Given the description of an element on the screen output the (x, y) to click on. 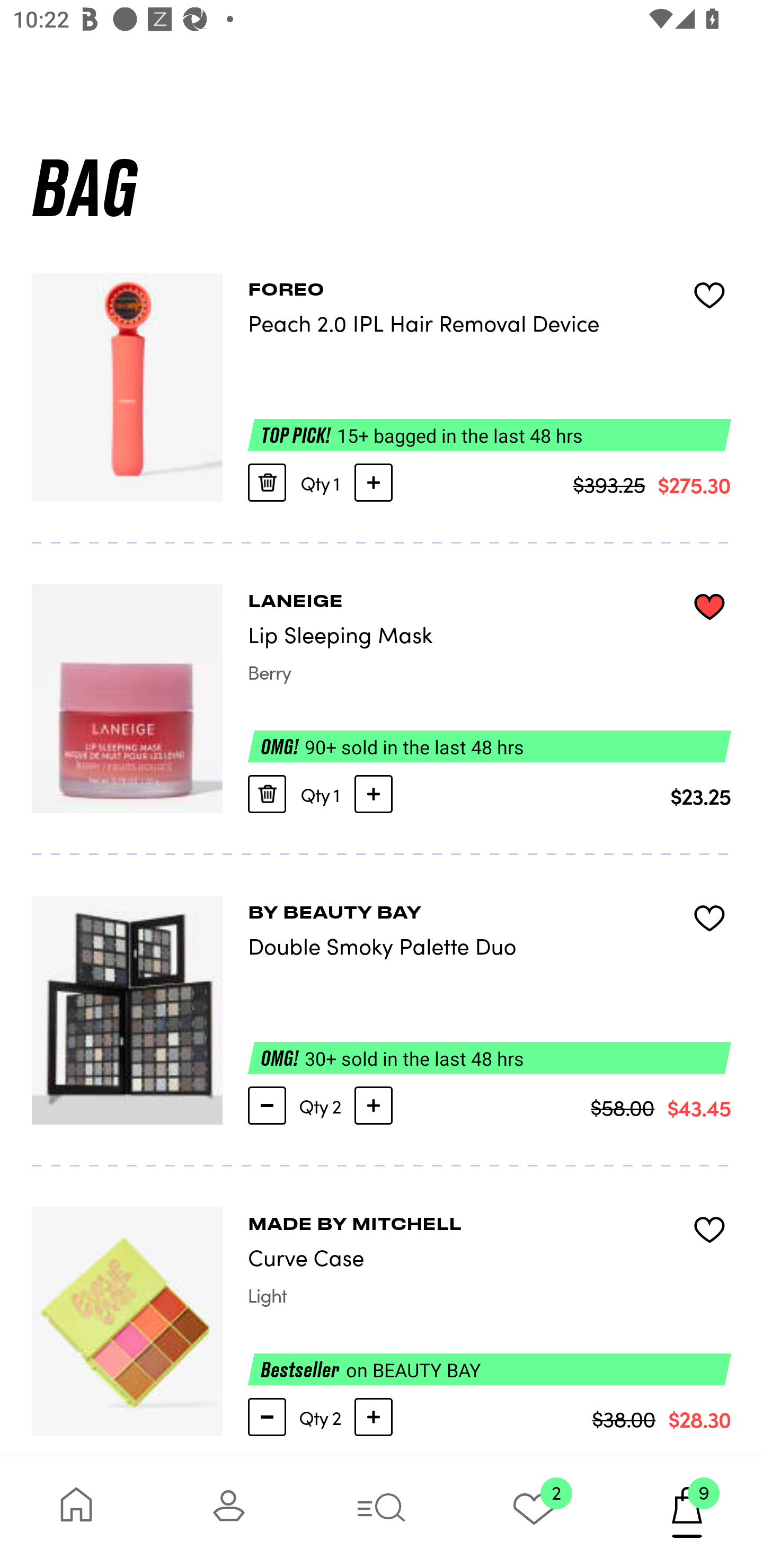
2 (533, 1512)
9 (686, 1512)
